Given the description of an element on the screen output the (x, y) to click on. 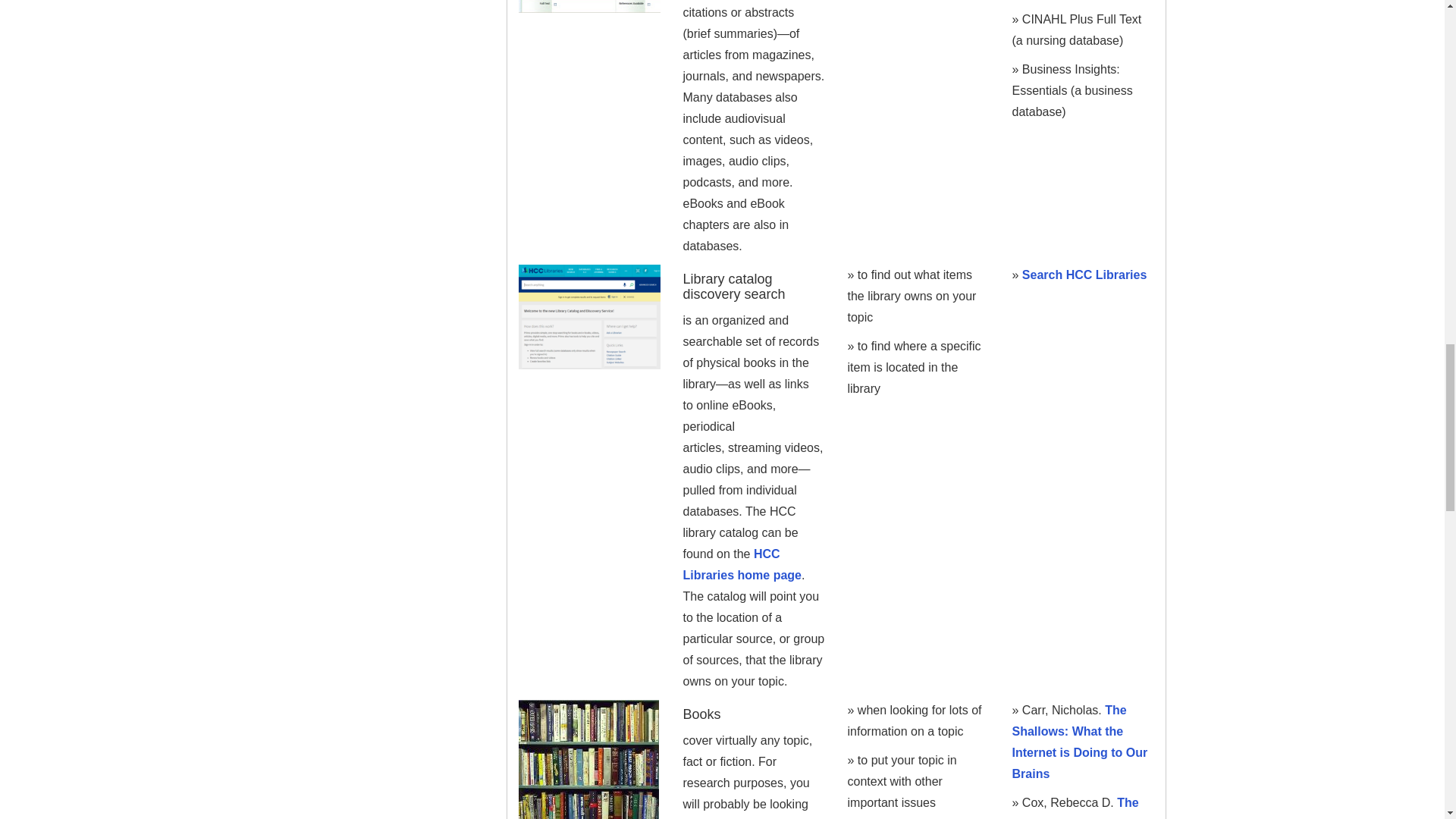
HCC Libraries home page (742, 564)
The Shallows: What the Internet is Doing to Our Brains (1079, 741)
Search HCC Libraries (1084, 274)
